Given the description of an element on the screen output the (x, y) to click on. 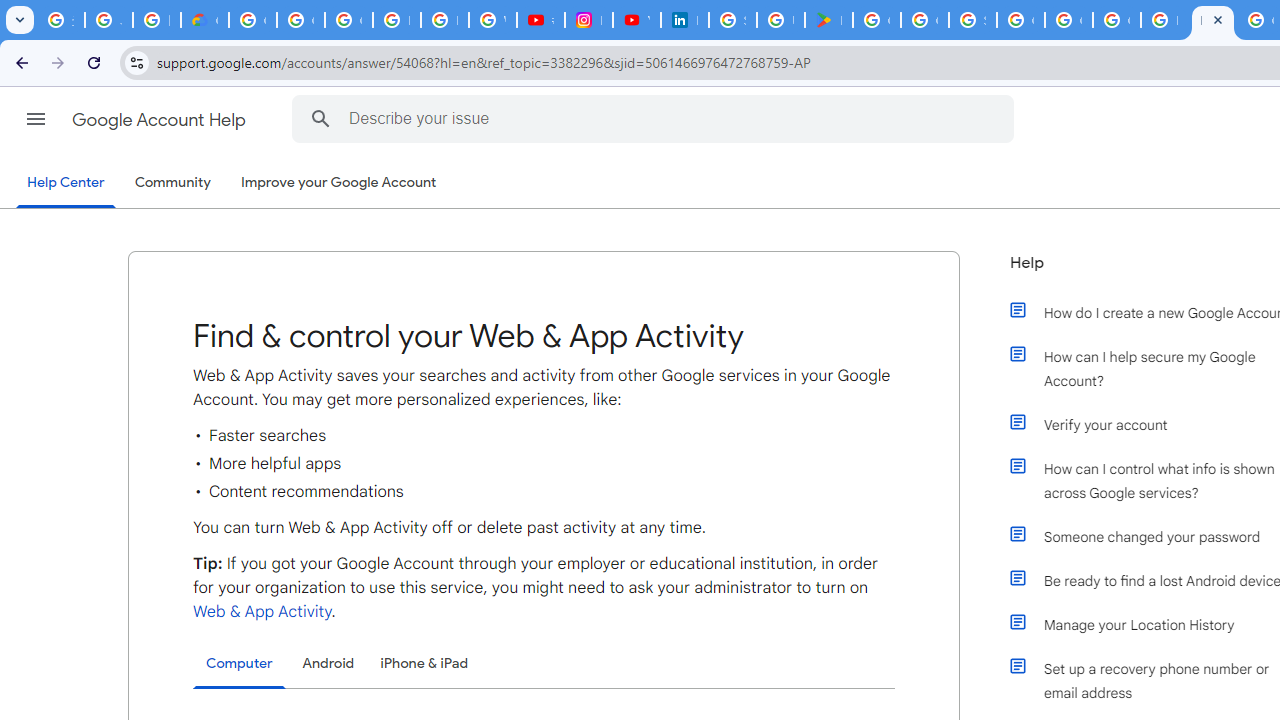
Computer (239, 664)
#nbabasketballhighlights - YouTube (540, 20)
Describe your issue (655, 118)
Web & App Activity (262, 611)
Google Workspace - Specific Terms (924, 20)
Community (171, 183)
Improve your Google Account (339, 183)
